Given the description of an element on the screen output the (x, y) to click on. 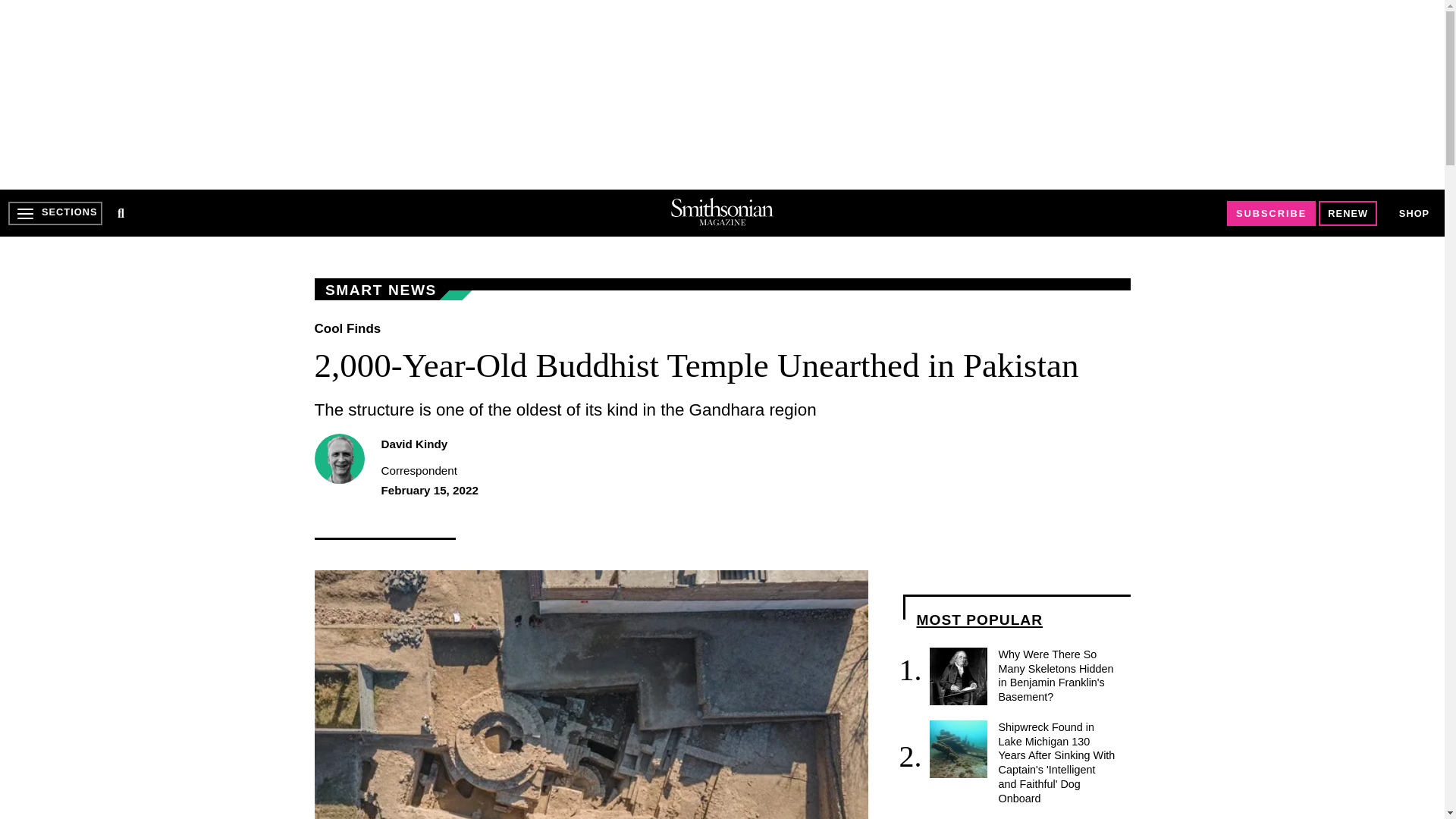
SUBSCRIBE (1271, 212)
RENEW (1348, 213)
SUBSCRIBE (1271, 213)
SHOP (1413, 212)
SECTIONS (55, 213)
SHOP (1414, 213)
RENEW (1347, 212)
